Given the description of an element on the screen output the (x, y) to click on. 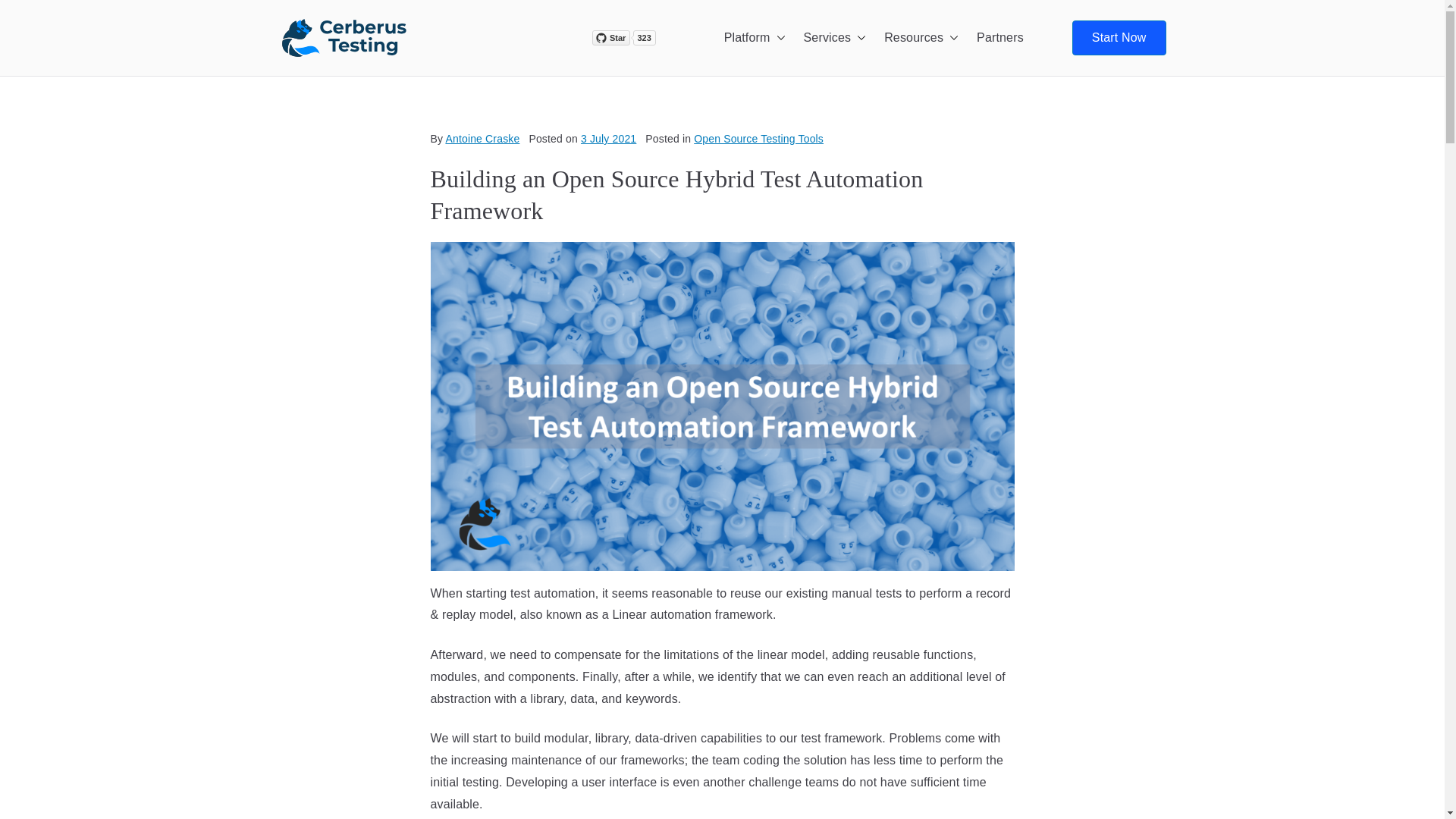
Services (834, 38)
Resources (920, 38)
Start Now (1118, 38)
Cerberus Testing (547, 57)
Platform (754, 38)
GitHub (649, 37)
Partners (999, 38)
